Given the description of an element on the screen output the (x, y) to click on. 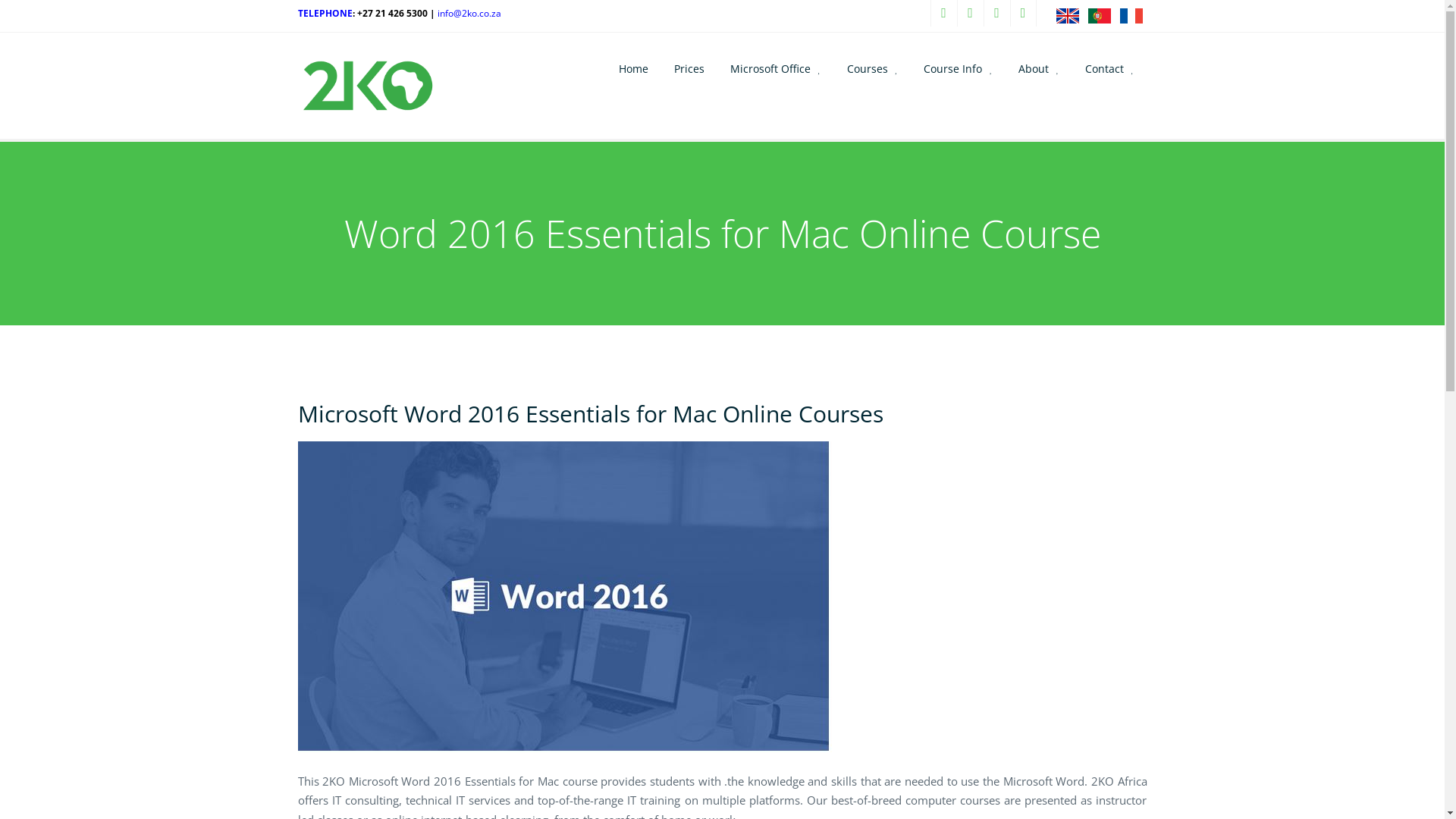
info@2ko.co.za Element type: text (469, 12)
Courses Element type: text (872, 68)
Prices Element type: text (689, 68)
Course Info Element type: text (957, 68)
Home Element type: text (633, 68)
Microsoft Office Element type: text (775, 68)
Contact Element type: text (1109, 68)
About Element type: text (1038, 68)
